Given the description of an element on the screen output the (x, y) to click on. 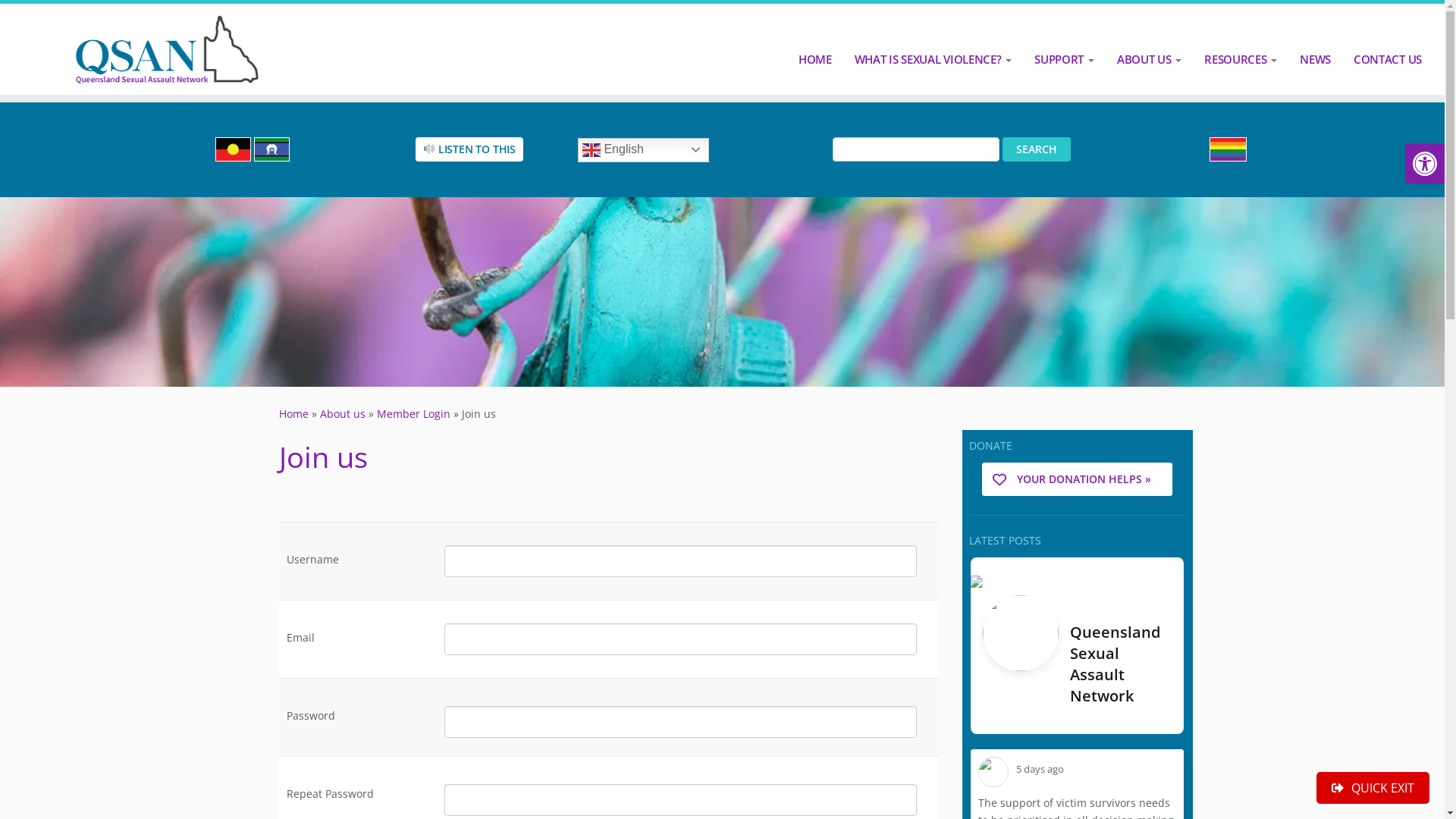
NEWS Element type: text (1315, 58)
CONTACT US Element type: text (1381, 58)
ABOUT US Element type: text (1148, 58)
RESOURCES Element type: text (1240, 58)
HOME Element type: text (815, 58)
LISTEN TO THIS Element type: text (469, 149)
WHAT IS SEXUAL VIOLENCE? Element type: text (933, 58)
Member Login Element type: text (412, 413)
Open toolbar
Accessibility Tools Element type: text (1424, 163)
English Element type: text (643, 150)
QUICK EXIT Element type: text (1372, 787)
About us Element type: text (342, 413)
SUPPORT Element type: text (1063, 58)
Home Element type: text (293, 413)
Search Element type: text (1036, 149)
Queensland Sexual Assault Network Element type: text (1114, 663)
